Given the description of an element on the screen output the (x, y) to click on. 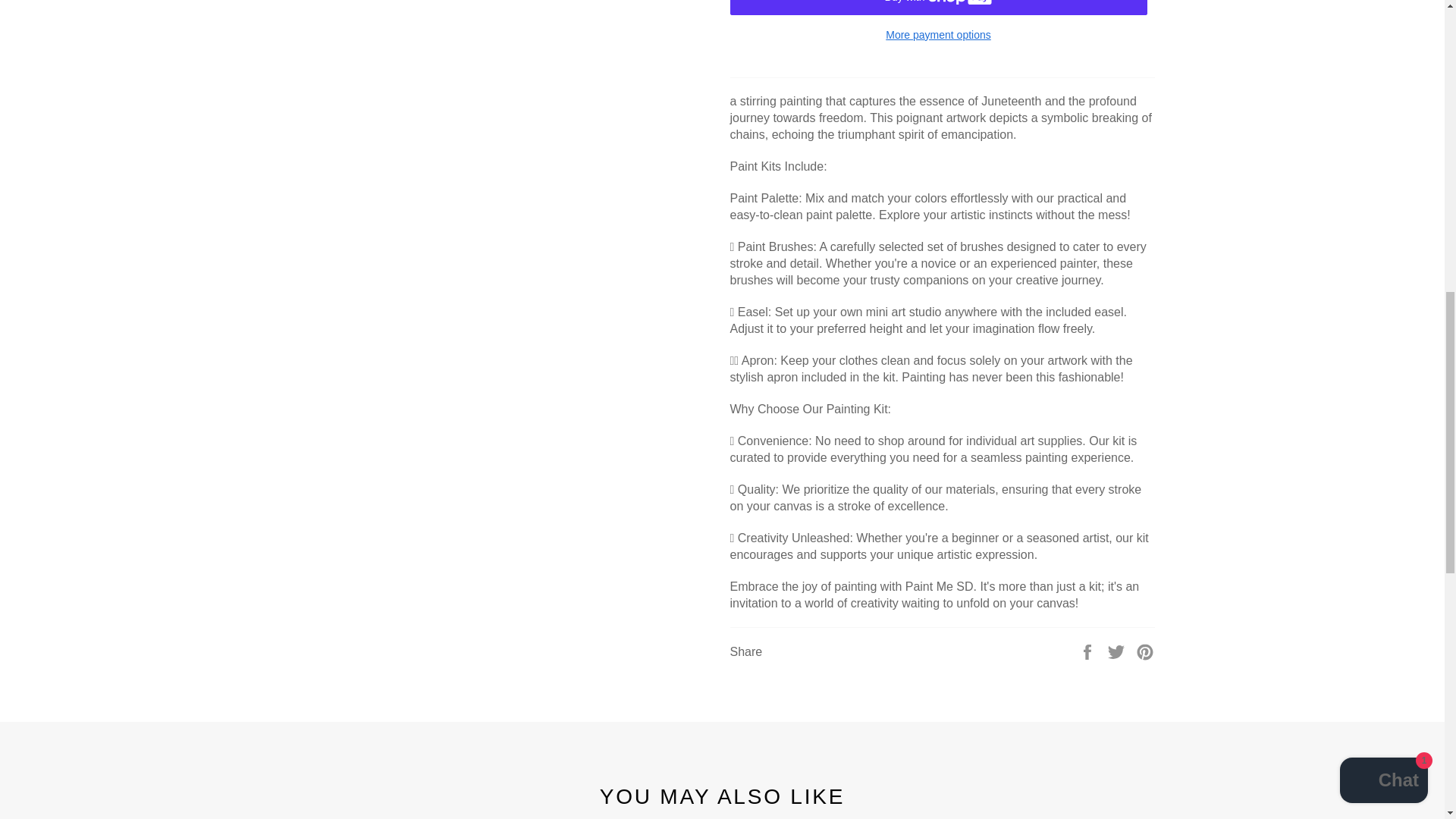
Share on Facebook (1088, 650)
Tweet on Twitter (1117, 650)
Pin on Pinterest (1144, 650)
